Given the description of an element on the screen output the (x, y) to click on. 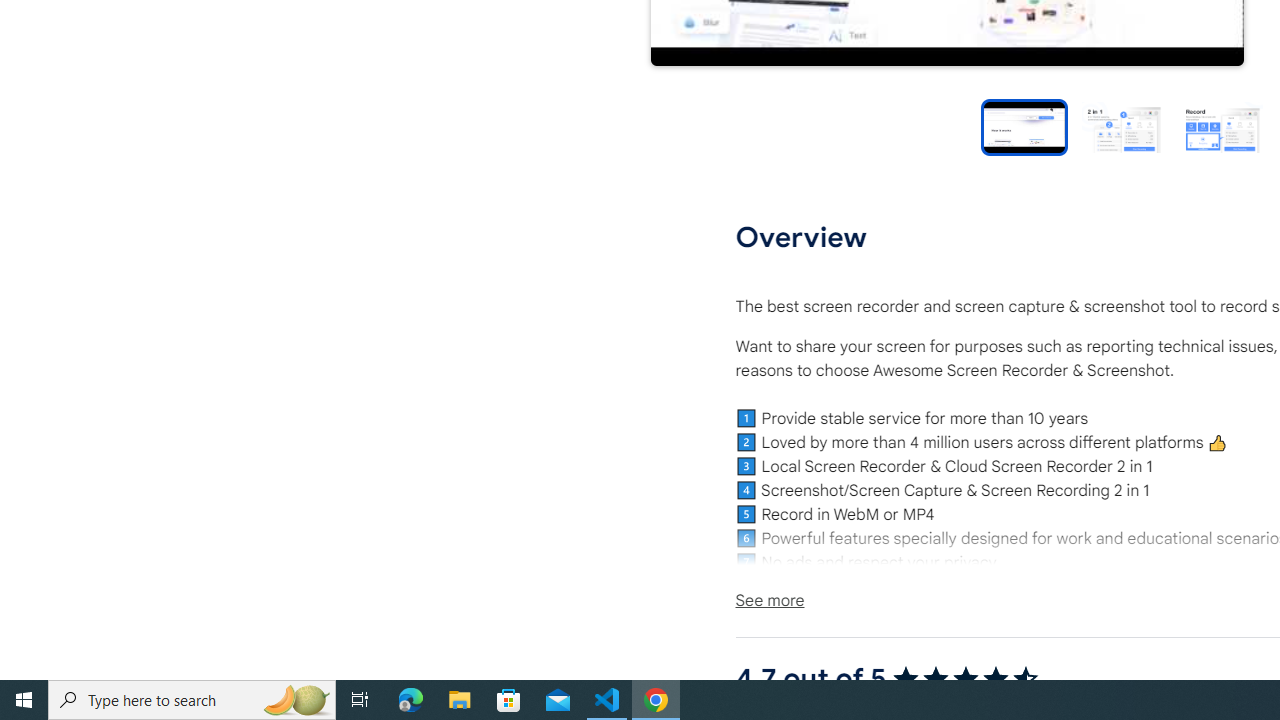
4.7 out of 5 stars (964, 678)
Preview slide 3 (1222, 126)
Preview slide 2 (1122, 126)
Item video thumbnail (1024, 126)
Preview slide 1 (1024, 126)
